Given the description of an element on the screen output the (x, y) to click on. 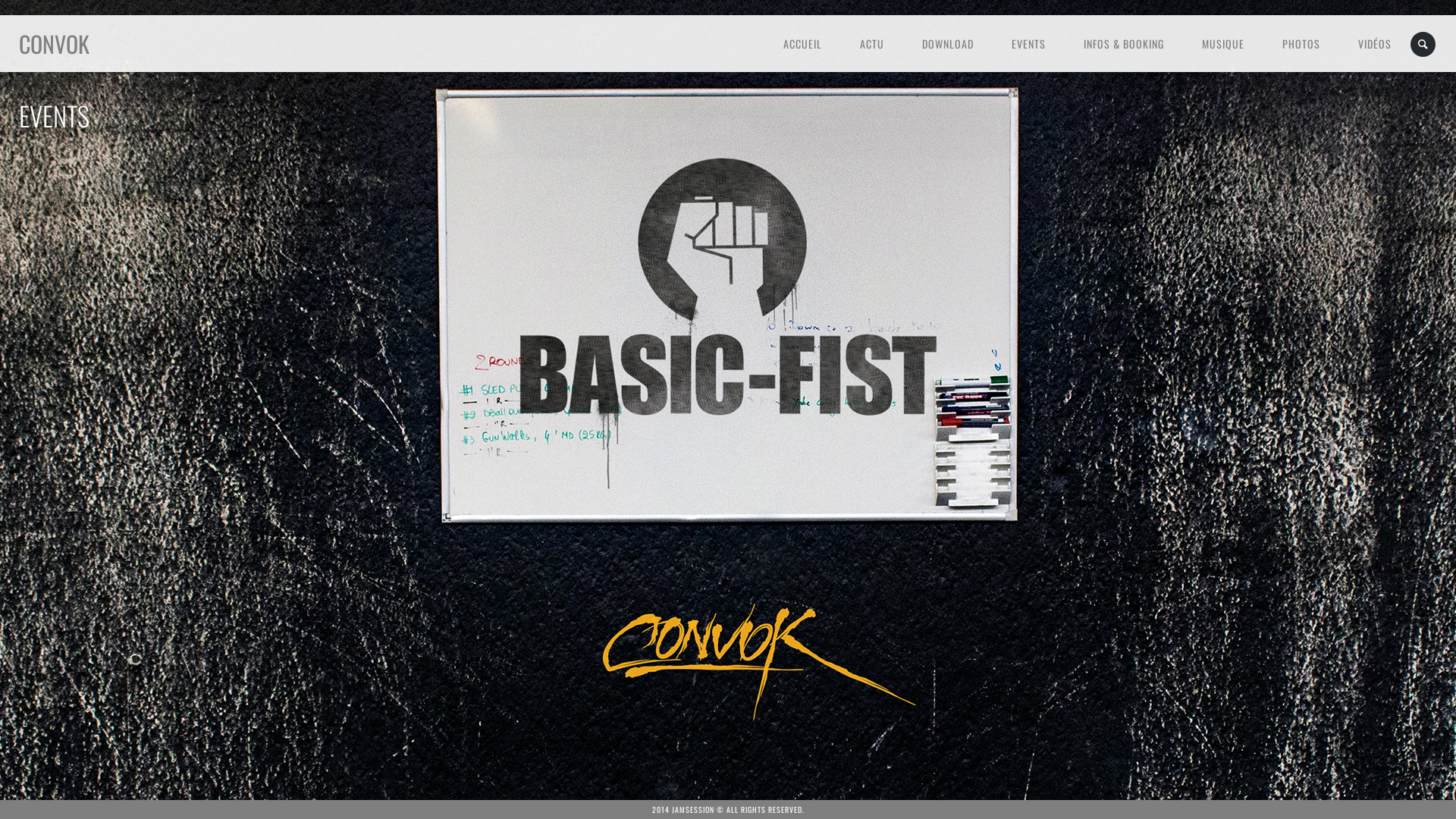
ACCUEIL Element type: text (802, 43)
DOWNLOAD Element type: text (947, 43)
EVENTS Element type: text (1028, 43)
ACTU Element type: text (871, 43)
PHOTOS Element type: text (1301, 43)
MUSIQUE Element type: text (1223, 43)
Recherche... Element type: hover (1423, 43)
CONVOK Element type: text (53, 43)
INFOS & BOOKING Element type: text (1123, 43)
